Given the description of an element on the screen output the (x, y) to click on. 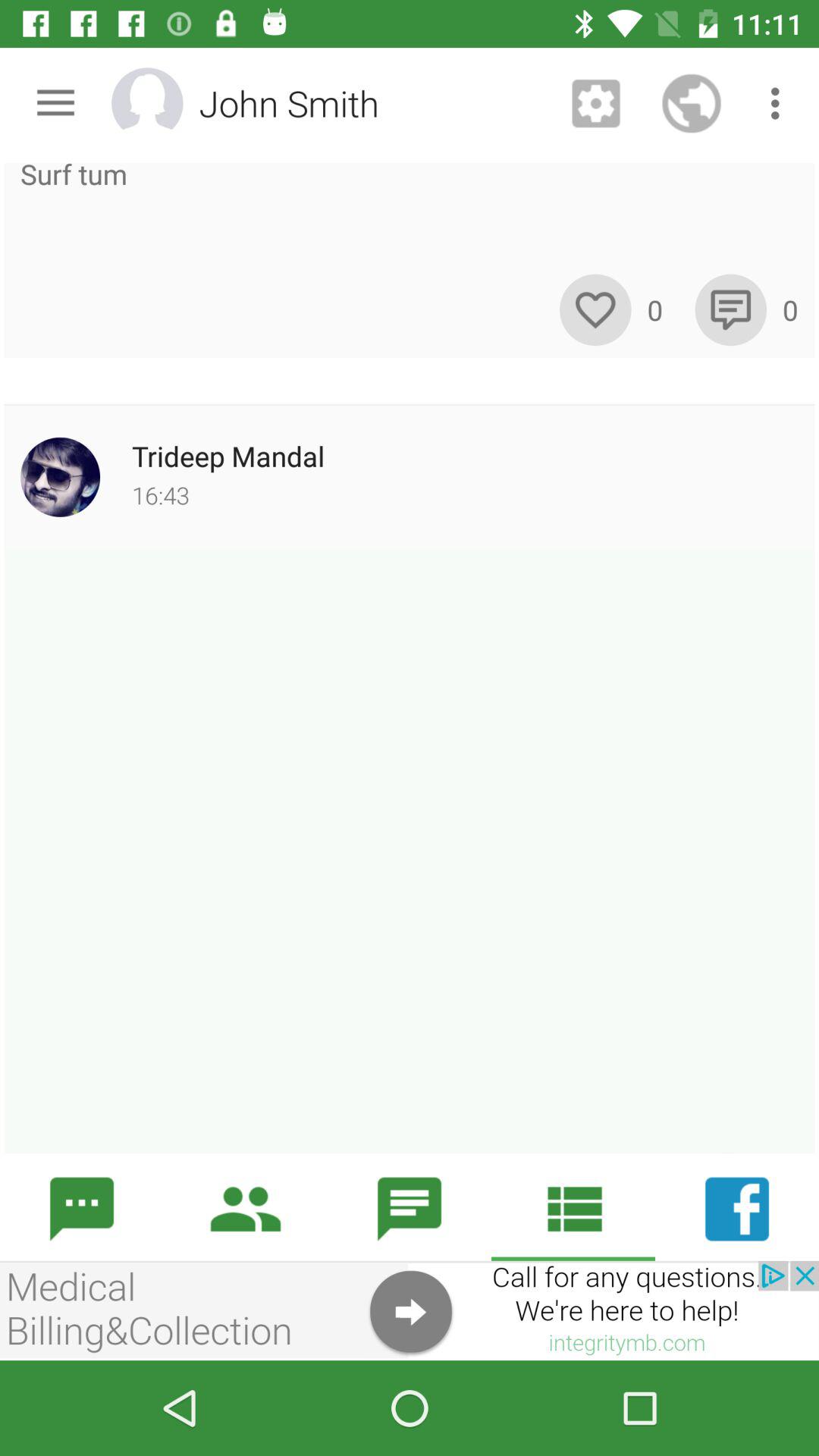
click to talk with trideep (409, 850)
